Given the description of an element on the screen output the (x, y) to click on. 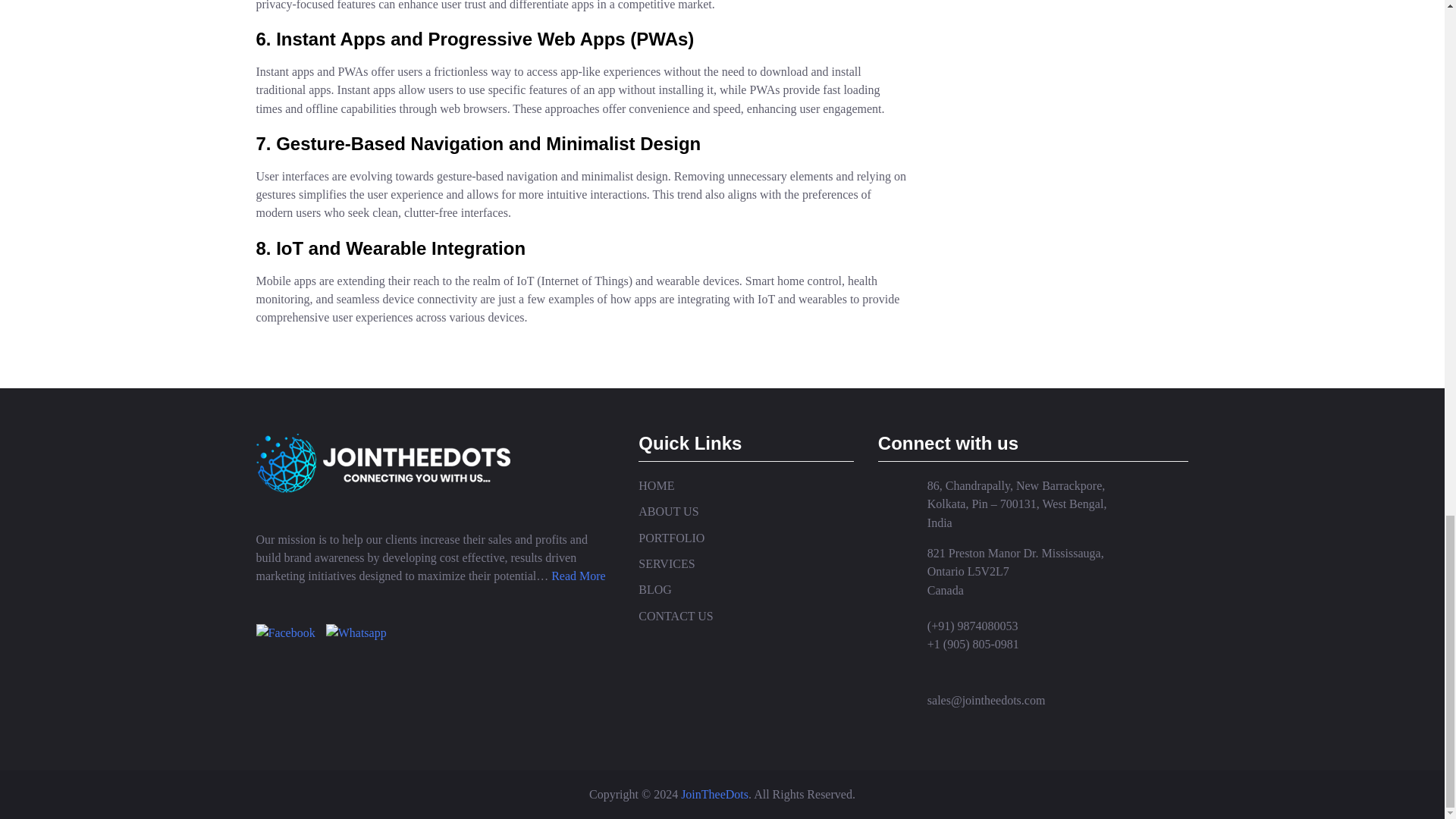
HOME (746, 485)
ABOUT US (746, 511)
BLOG (746, 589)
JoinTheeDots (714, 793)
SERVICES (746, 564)
PORTFOLIO (746, 538)
Read More (578, 575)
CONTACT US (746, 616)
